Given the description of an element on the screen output the (x, y) to click on. 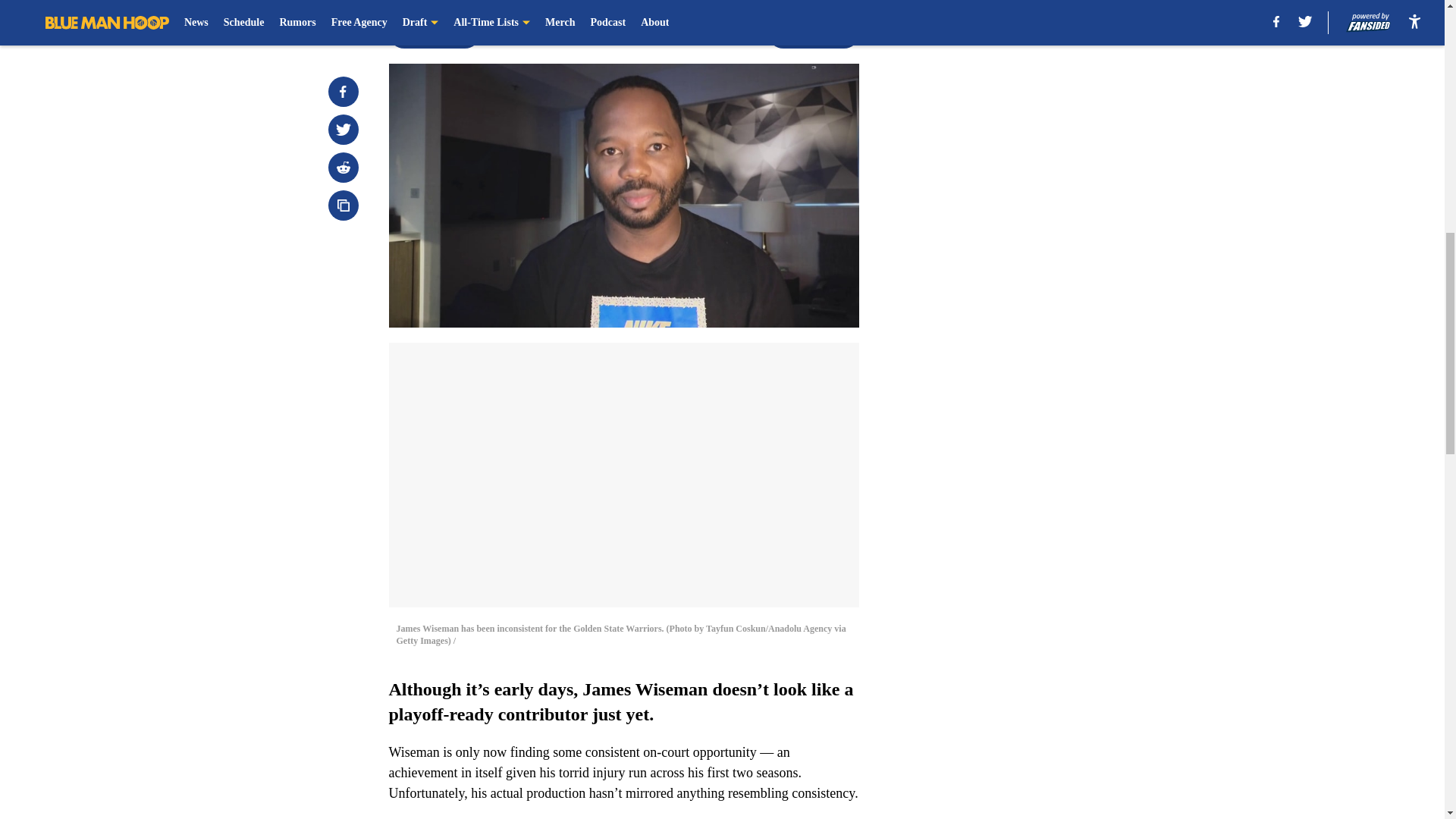
Prev (433, 33)
Next (813, 33)
3rd party ad content (1047, 113)
3rd party ad content (1047, 332)
